Given the description of an element on the screen output the (x, y) to click on. 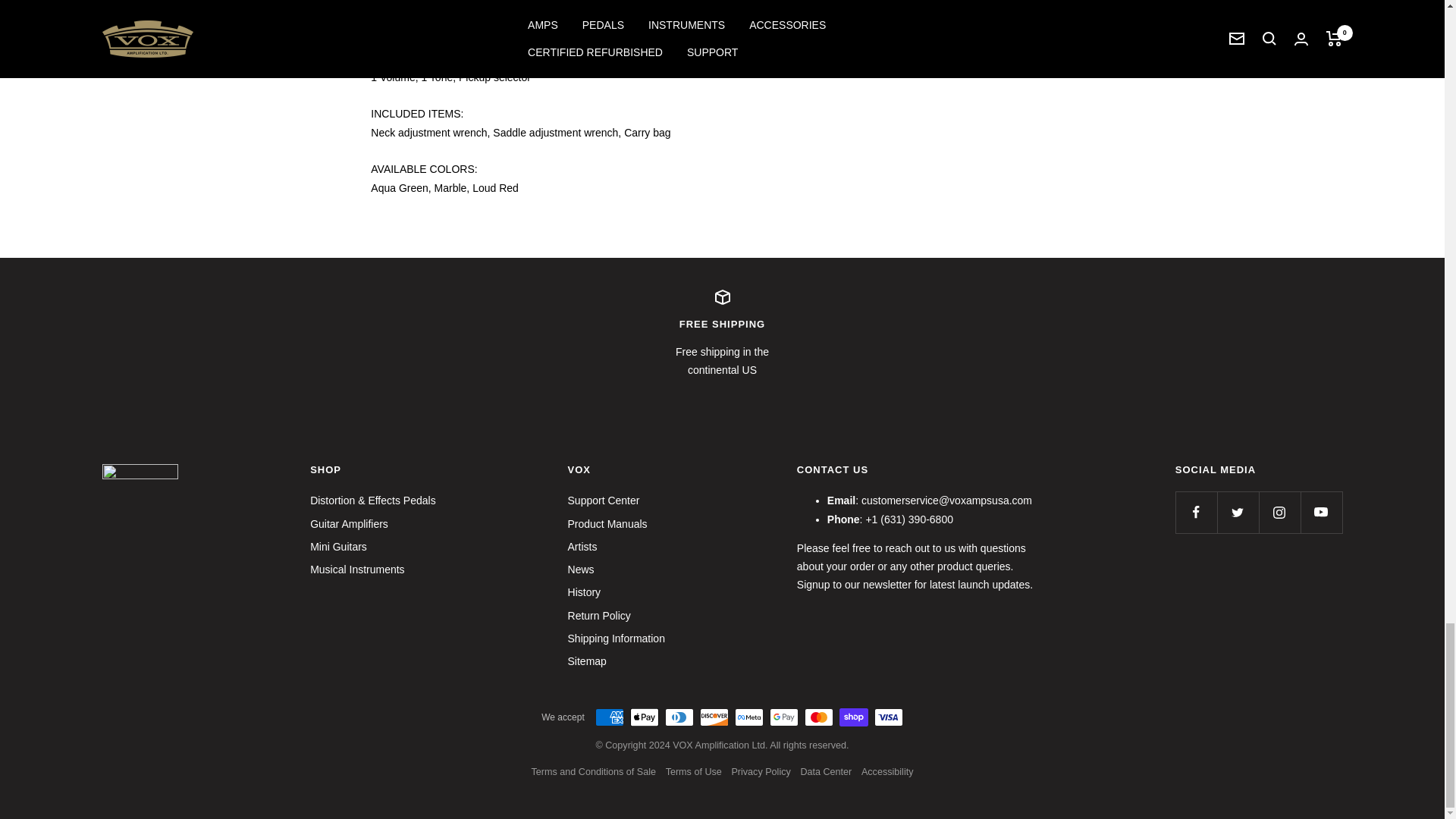
tel:631-390-6800 (721, 334)
